Given the description of an element on the screen output the (x, y) to click on. 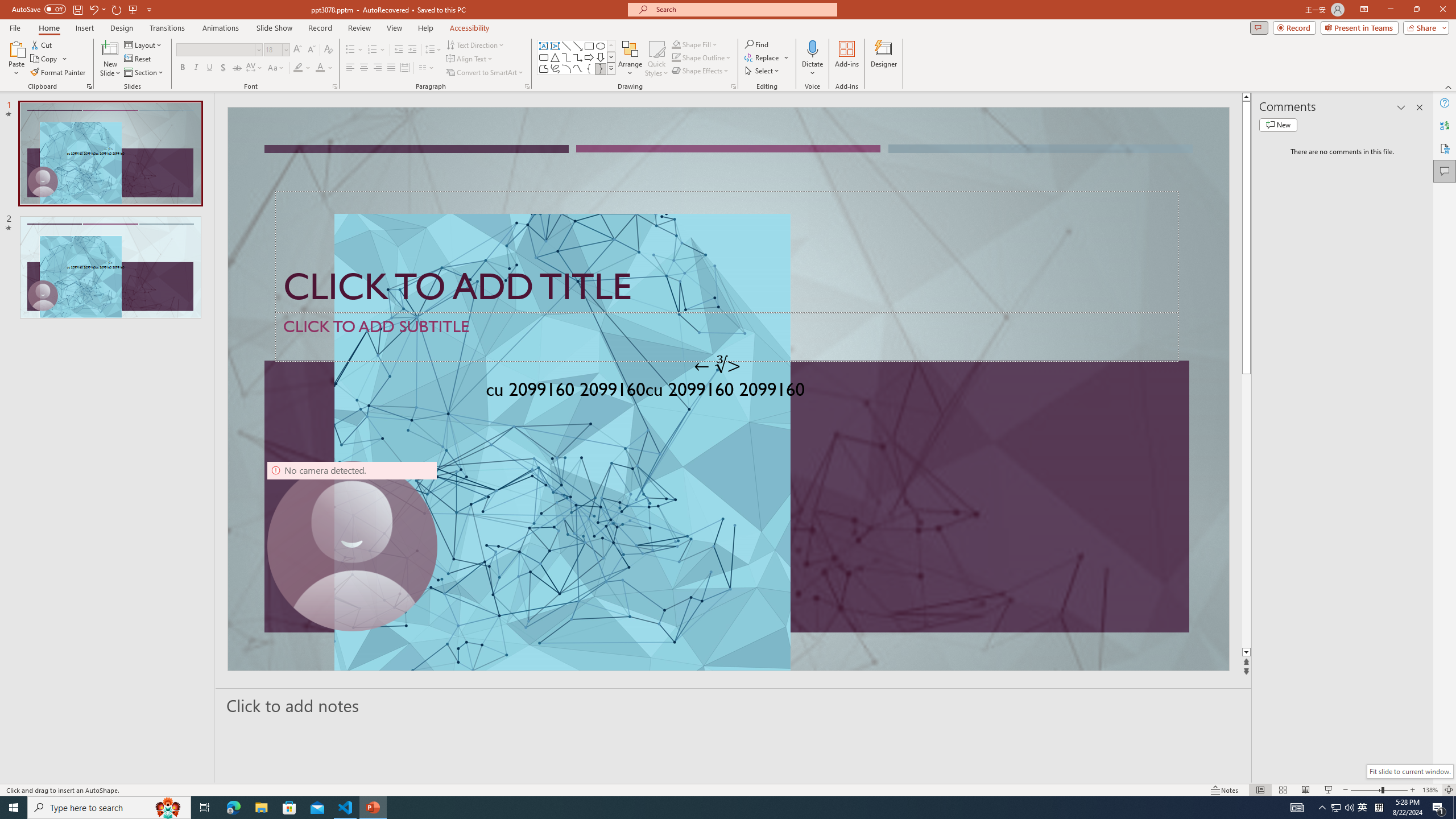
Fit slide to current window. (1410, 771)
Zoom 138% (1430, 790)
Subtitle TextBox (727, 336)
